Given the description of an element on the screen output the (x, y) to click on. 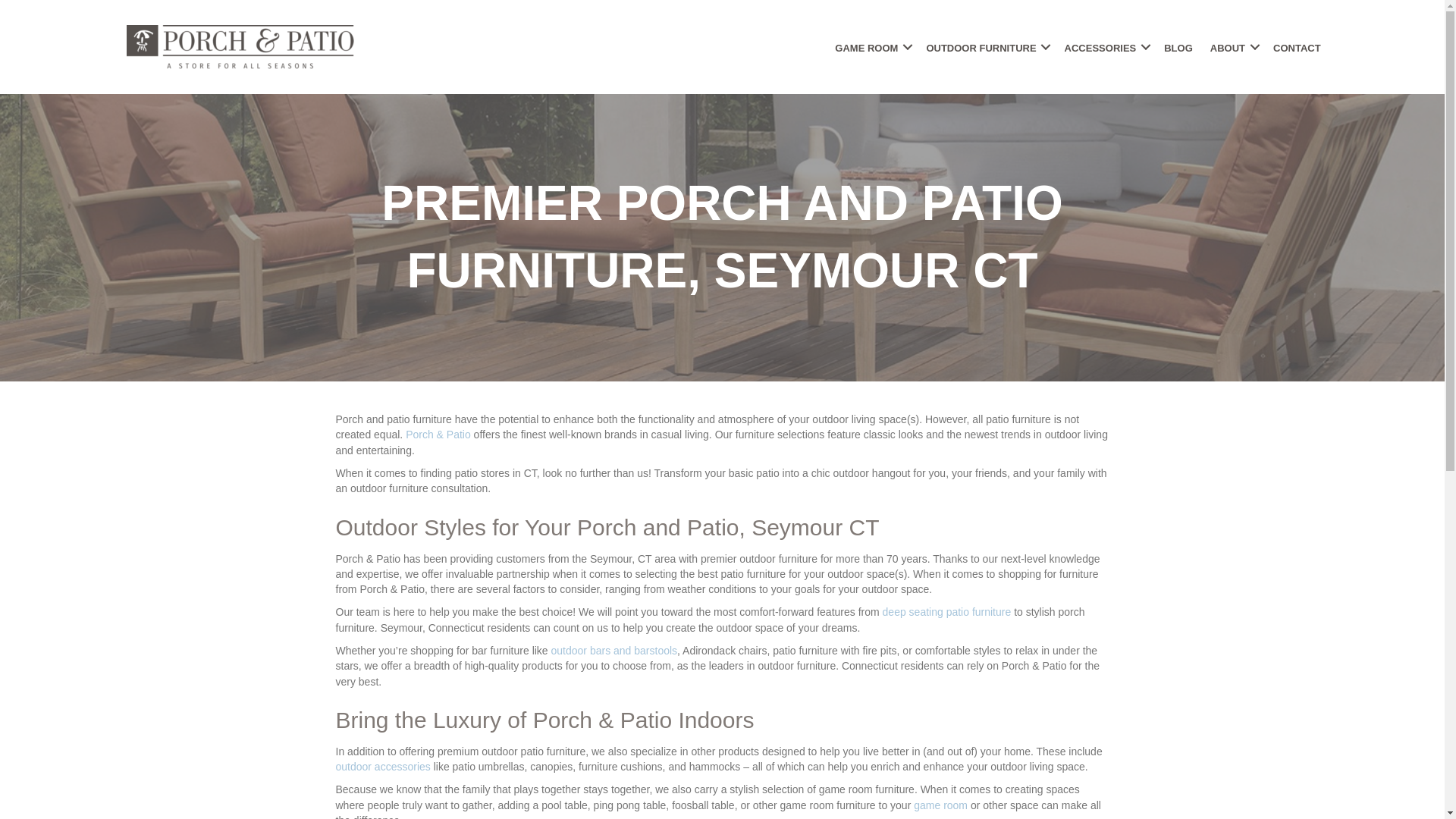
OUTDOOR FURNITURE (985, 47)
outdoor accessories (381, 766)
game room (941, 805)
GAME ROOM (872, 47)
Horizontal (239, 46)
ACCESSORIES (1106, 47)
outdoor bars and barstools (614, 650)
deep seating patio furniture (946, 612)
